Given the description of an element on the screen output the (x, y) to click on. 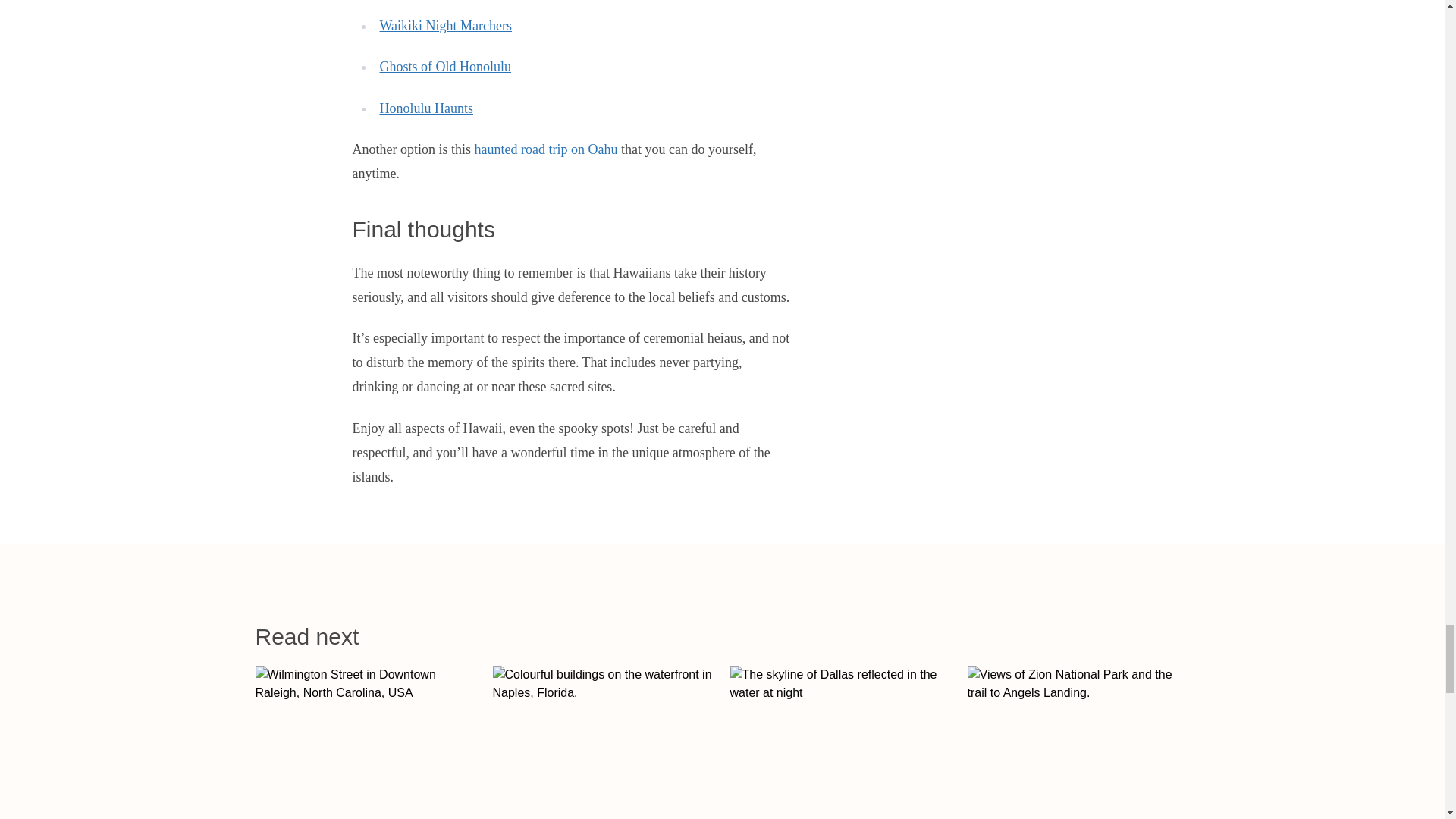
Ghosts of Old Honolulu (840, 742)
Honolulu Haunts (444, 66)
Waikiki Night Marchers (365, 742)
haunted road trip on Oahu (425, 108)
